Given the description of an element on the screen output the (x, y) to click on. 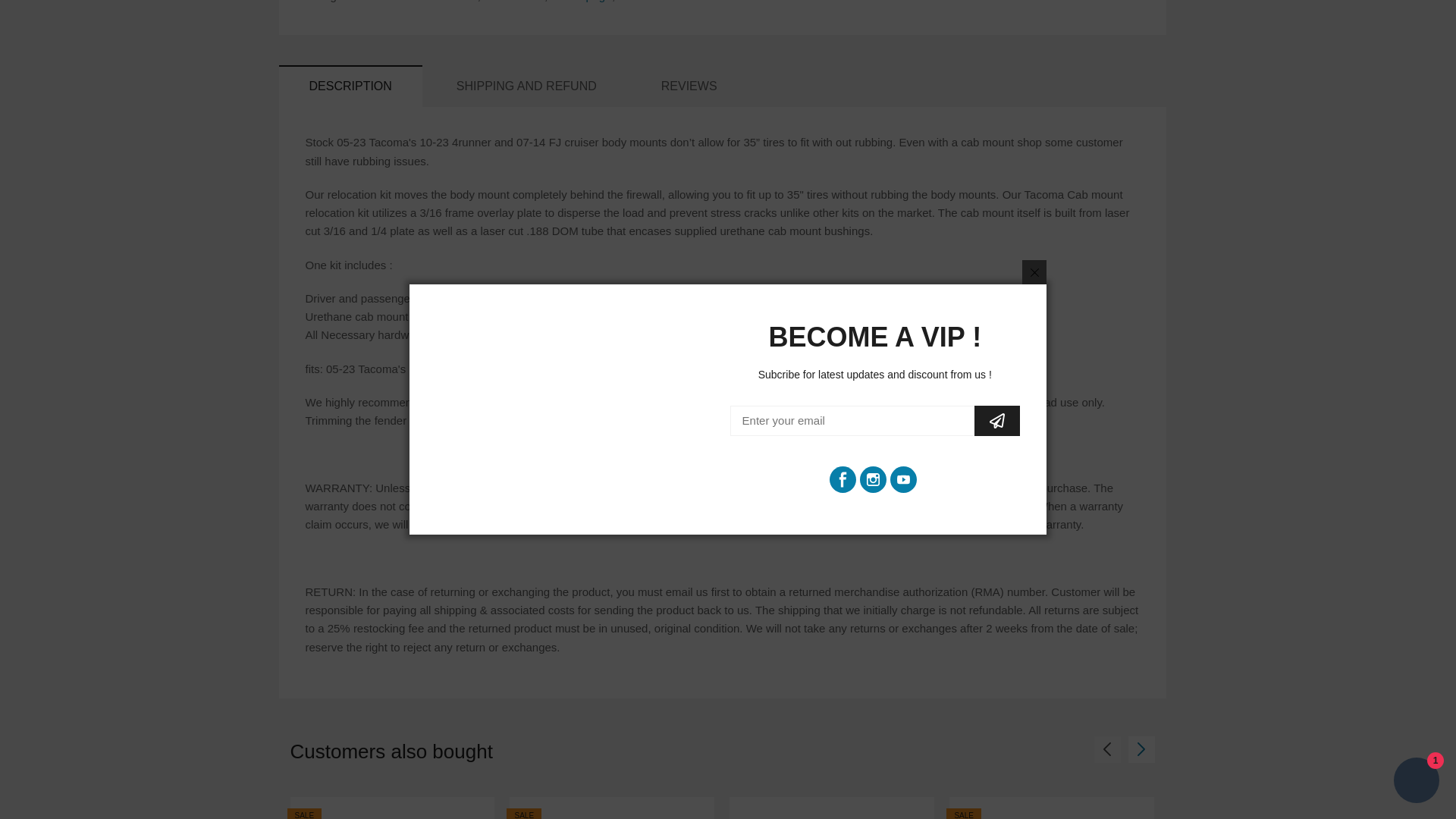
EXTERIOR (512, 1)
Home page (579, 1)
TOYOTA (640, 1)
CHASSIS BRACING (421, 1)
